Given the description of an element on the screen output the (x, y) to click on. 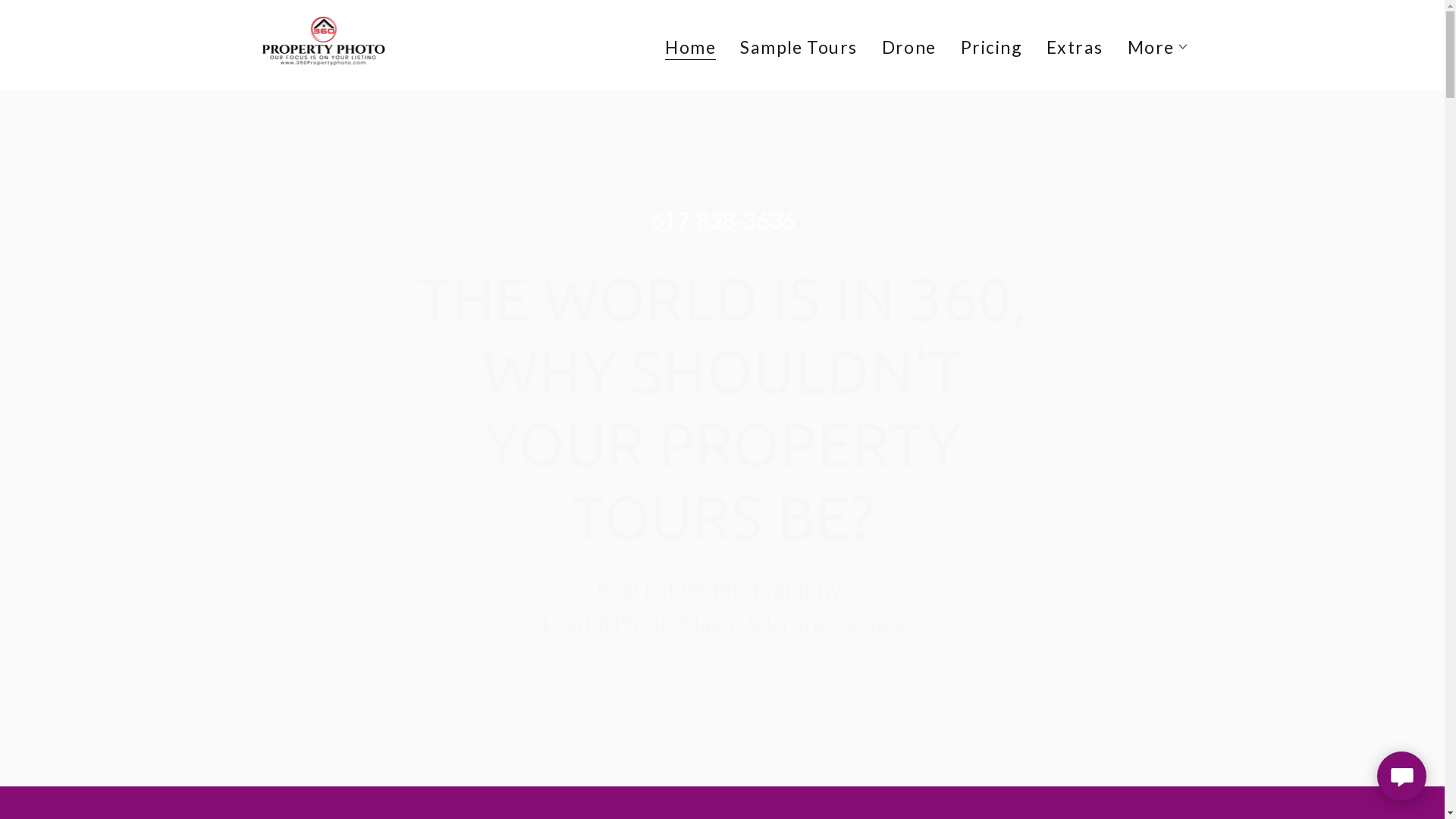
Home Element type: text (690, 48)
Drone Element type: text (909, 46)
360 Property Marketing Element type: hover (323, 42)
Pricing Element type: text (991, 46)
Extras Element type: text (1074, 46)
More Element type: text (1158, 46)
617-828-3636 Element type: text (722, 219)
Sample Tours Element type: text (798, 46)
